Given the description of an element on the screen output the (x, y) to click on. 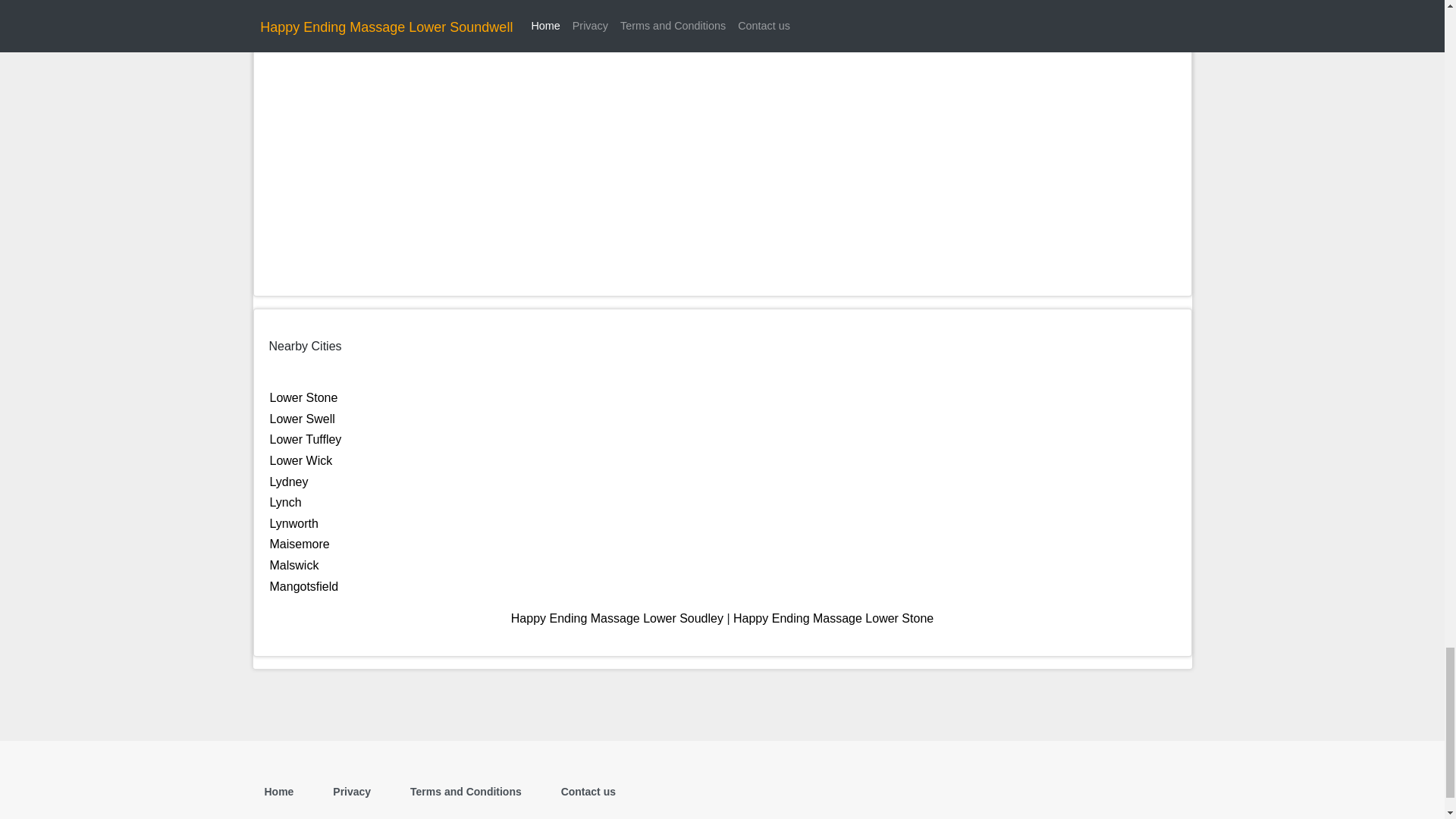
Happy Ending Massage Lower Stone (833, 617)
Mangotsfield (304, 585)
Lynworth (293, 522)
Lower Tuffley (305, 439)
Malswick (293, 564)
Lower Wick (301, 460)
Lynch (285, 502)
Lower Stone (303, 397)
Lydney (288, 481)
Lower Swell (301, 418)
